Given the description of an element on the screen output the (x, y) to click on. 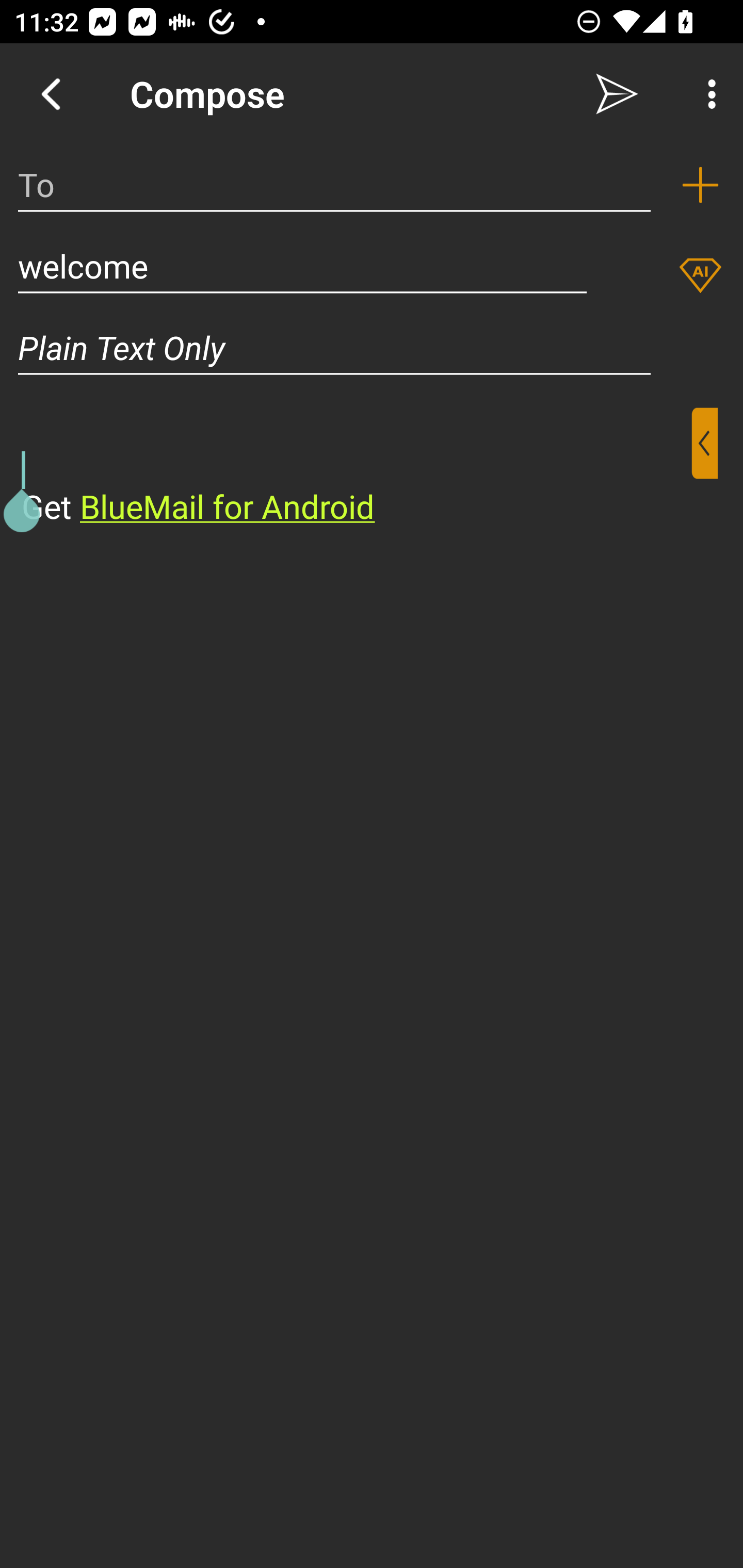
Navigate up (50, 93)
Send (616, 93)
More Options (706, 93)
To (334, 184)
Add recipient (To) (699, 184)
welcome (302, 266)
Plain Text Only (371, 347)


⁣Get BlueMail for Android ​ (355, 468)
